Given the description of an element on the screen output the (x, y) to click on. 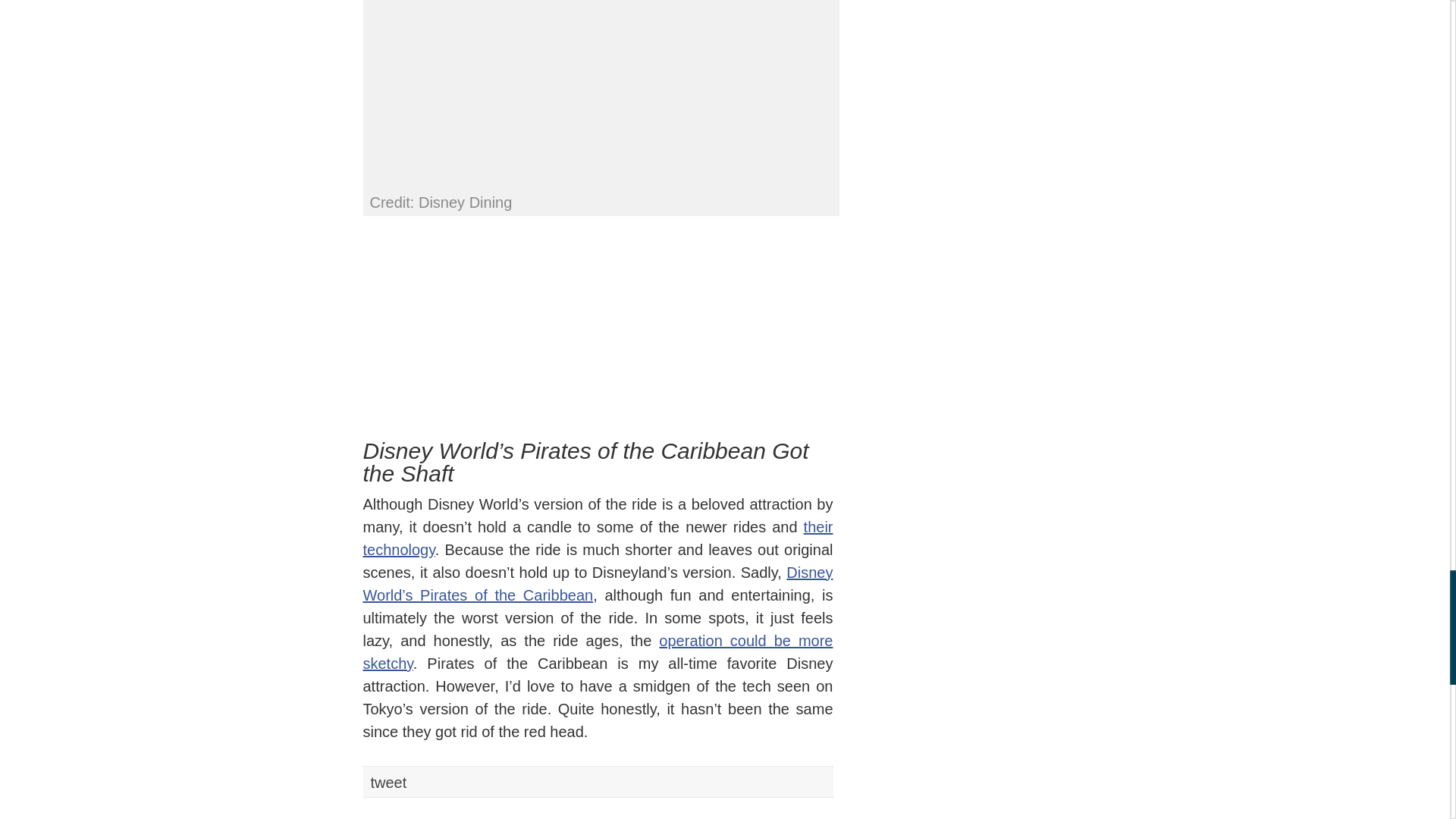
Pin It (563, 796)
their technology (597, 537)
tweet (387, 782)
operation could be more sketchy (597, 651)
